Given the description of an element on the screen output the (x, y) to click on. 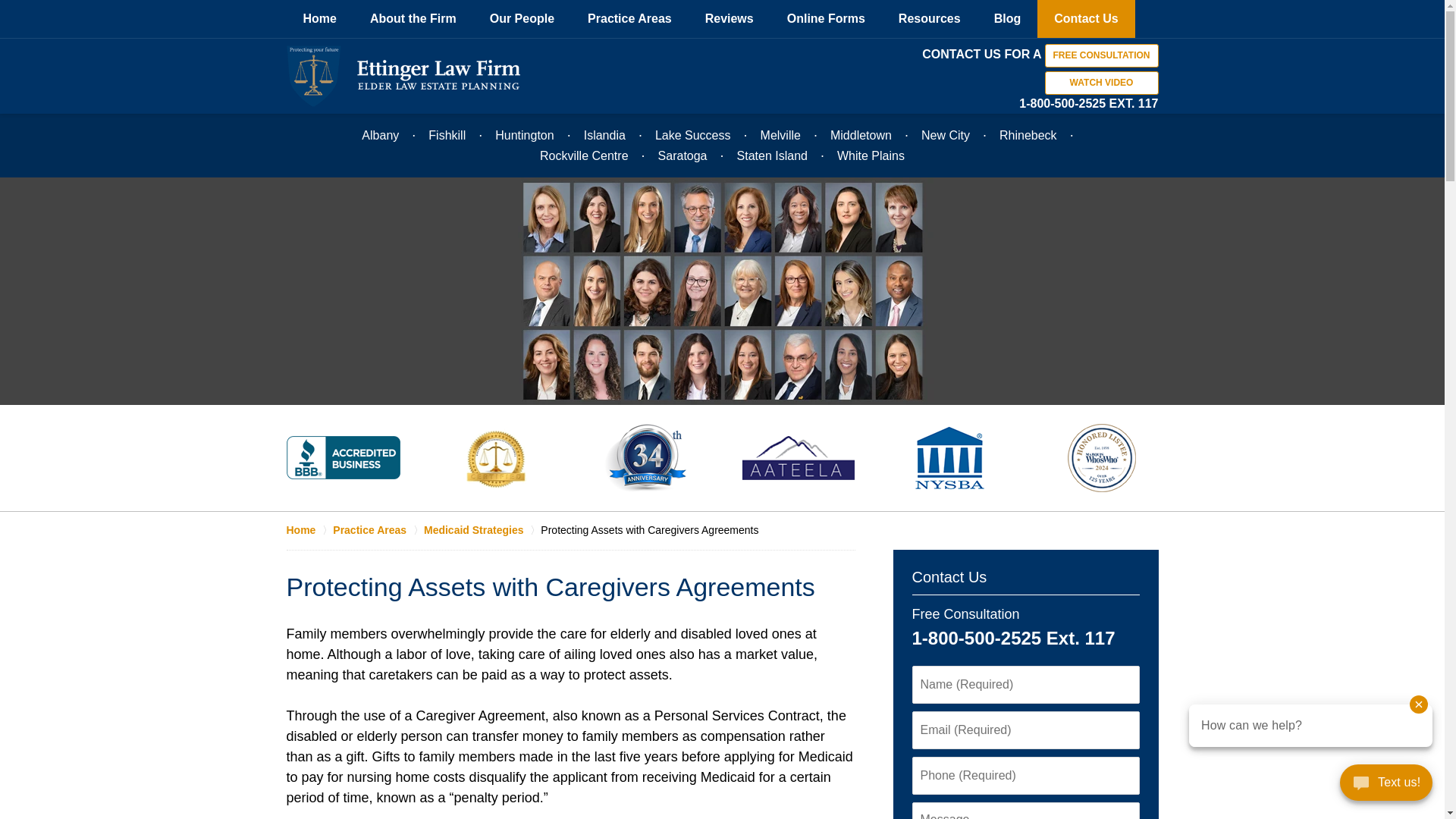
About the Firm (413, 18)
Reviews (729, 18)
Contact Us (1085, 18)
Message (1024, 810)
Blog (1007, 18)
Home (319, 18)
Practice Areas (629, 18)
Resources (929, 18)
Back to Home (402, 76)
Online Forms (826, 18)
Albany Medicaid Lawyers Ettinger Law Firm Home (402, 76)
Our People (521, 18)
